Given the description of an element on the screen output the (x, y) to click on. 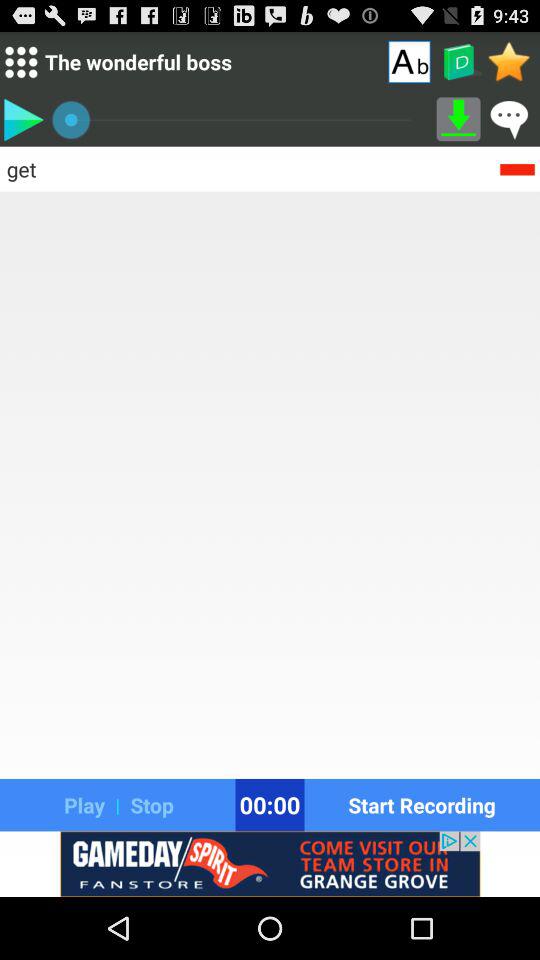
play the file (23, 119)
